Given the description of an element on the screen output the (x, y) to click on. 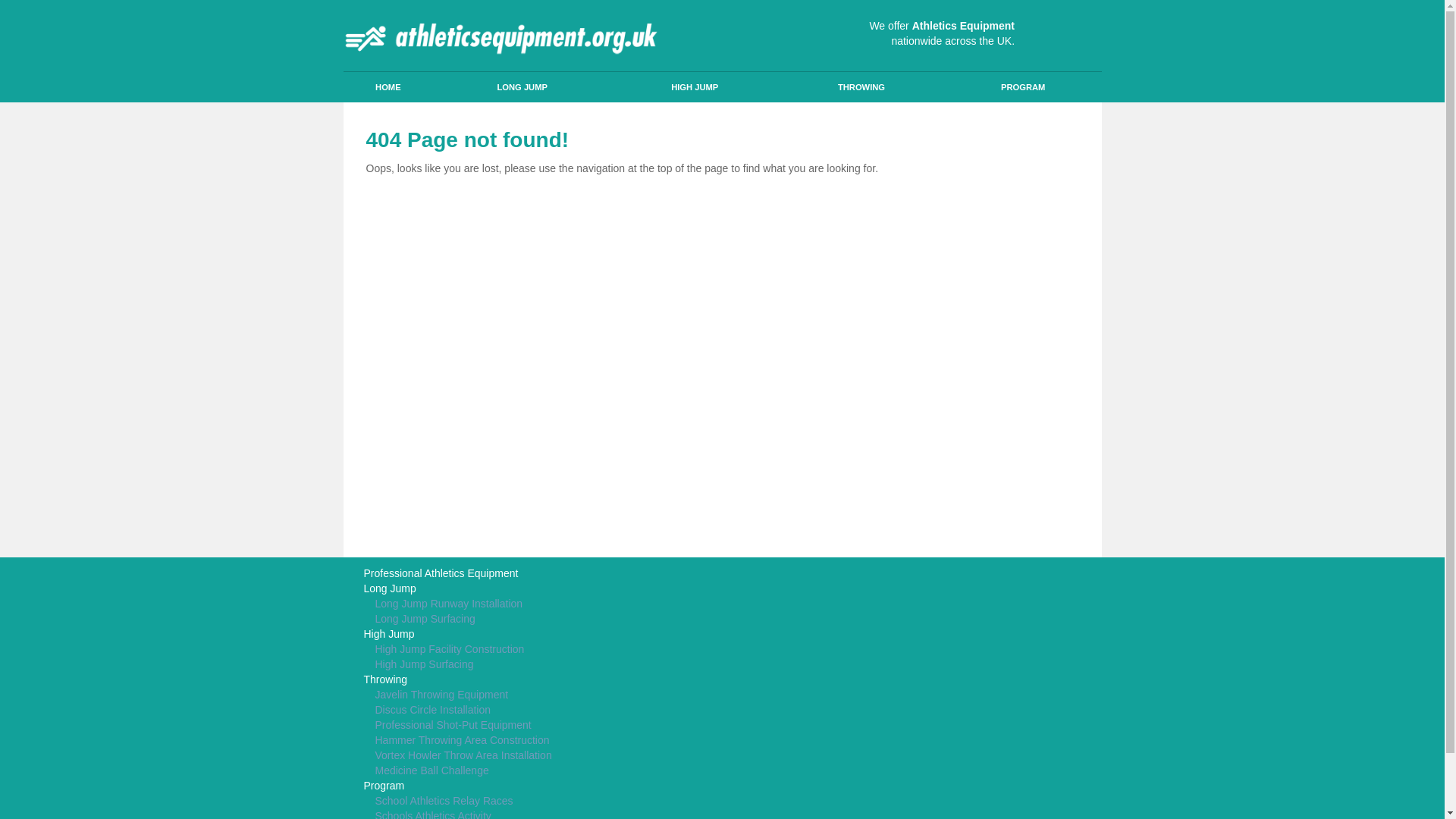
Throwing (599, 679)
Long Jump Surfacing (599, 619)
LONG JUMP (521, 87)
Vortex Howler Throw Area Installation (599, 755)
HIGH JUMP (694, 87)
Professional Shot-Put Equipment (599, 725)
Medicine Ball Challenge (599, 770)
Javelin Throwing Equipment (599, 694)
HOME (387, 87)
High Jump Facility Construction (599, 649)
PROGRAM (1023, 87)
Discus Circle Installation (599, 710)
Professional Athletics Equipment (599, 573)
Hammer Throwing Area Construction (599, 740)
High Jump Surfacing (599, 664)
